Given the description of an element on the screen output the (x, y) to click on. 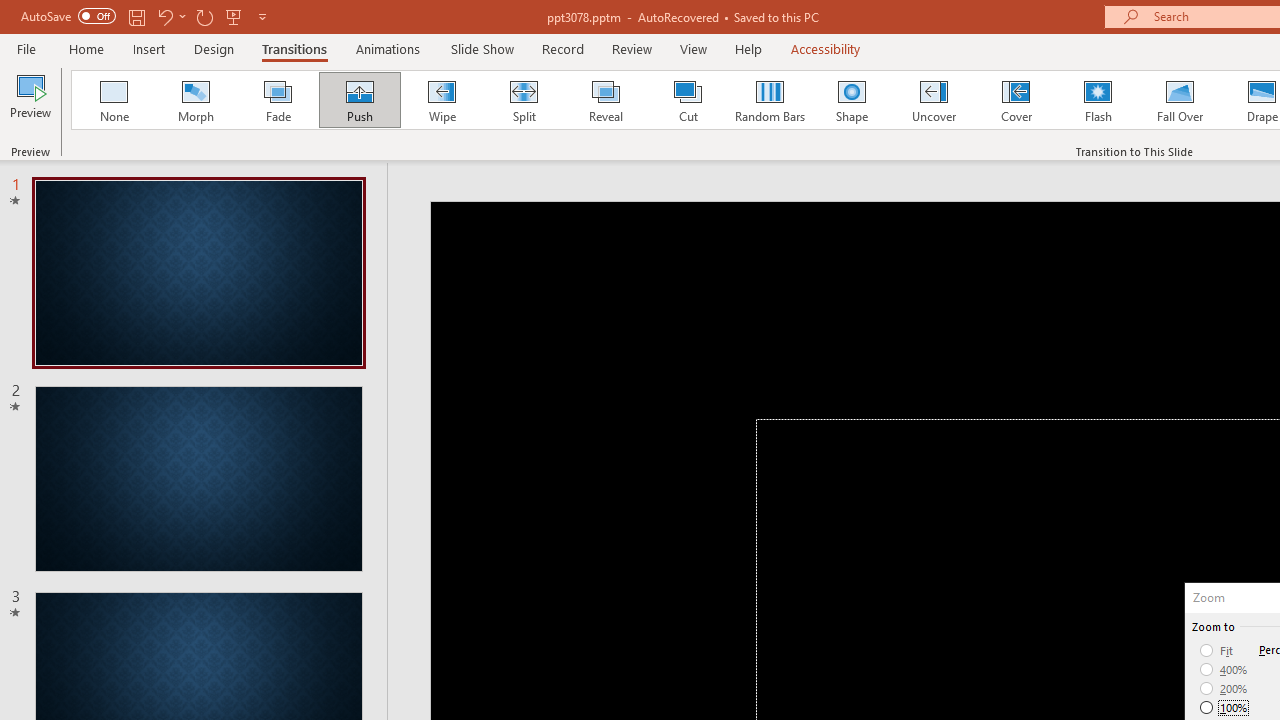
Random Bars (770, 100)
Fit (1217, 650)
None (113, 100)
Cover (1016, 100)
Wipe (441, 100)
